Given the description of an element on the screen output the (x, y) to click on. 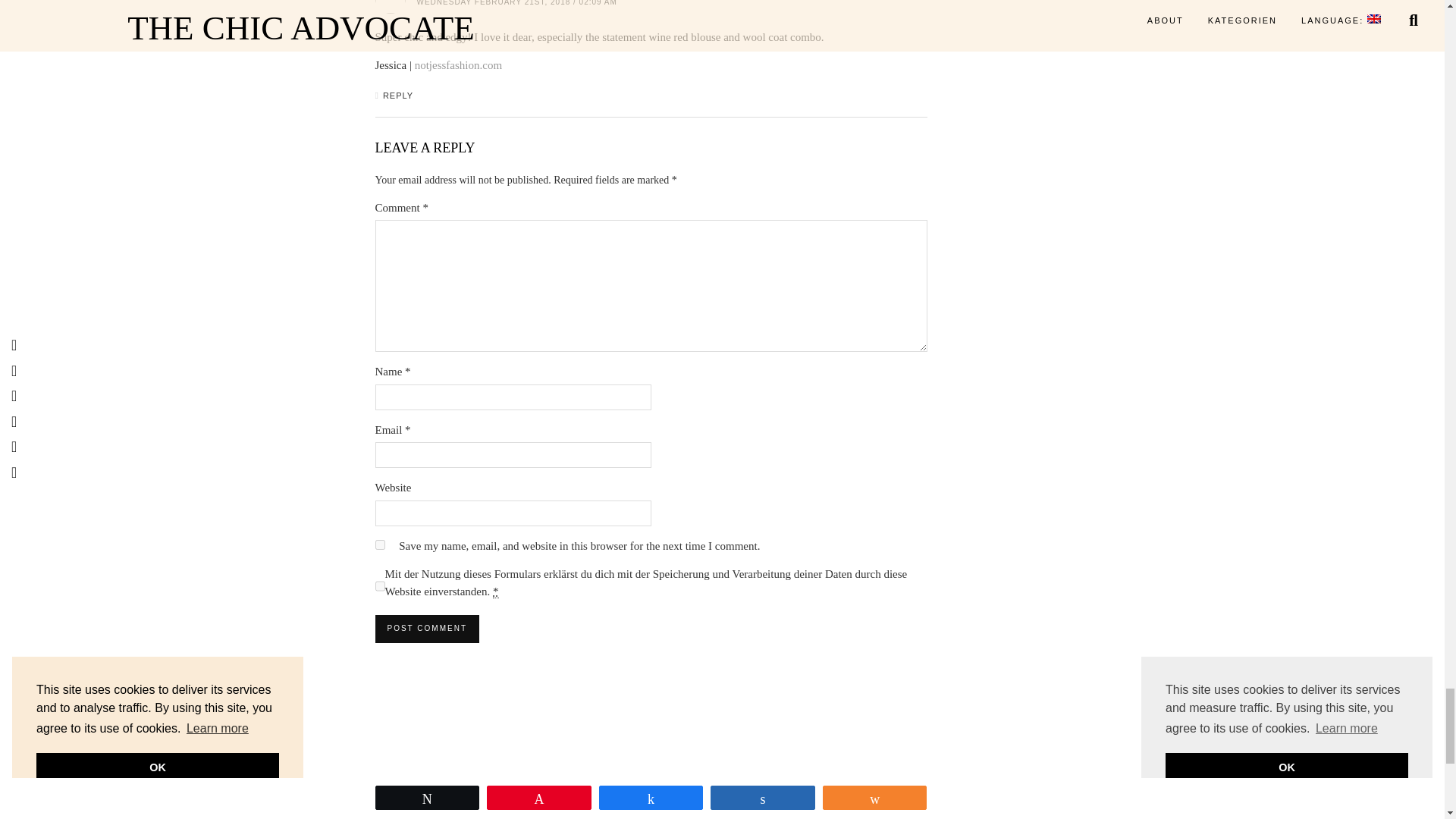
Post Comment (426, 628)
yes (379, 544)
